Given the description of an element on the screen output the (x, y) to click on. 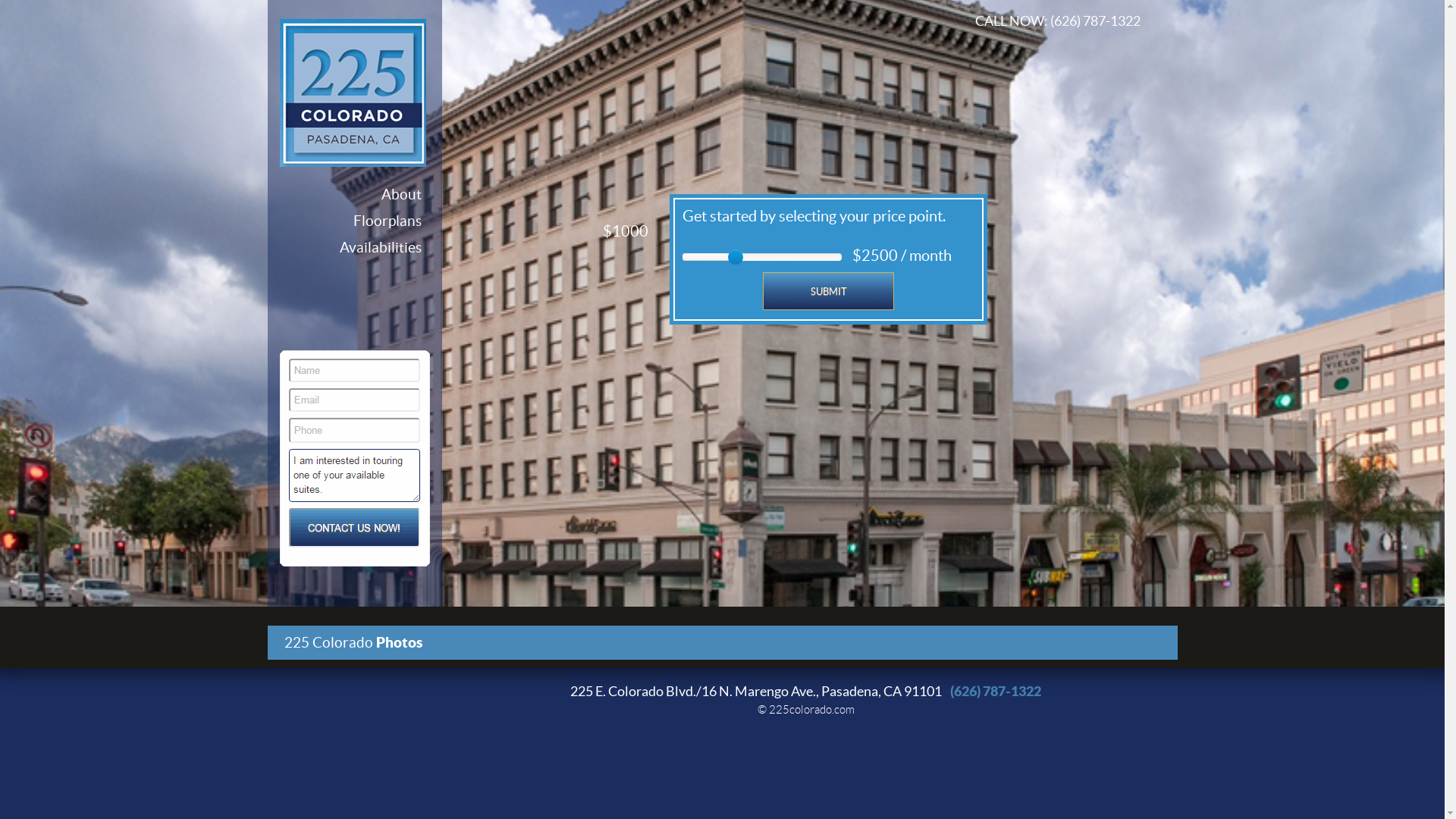
About Element type: text (400, 194)
SUBMIT Element type: text (828, 291)
Floorplans Element type: text (387, 221)
(626) 787-1322 Element type: text (995, 691)
Availabilities Element type: text (380, 247)
